Given the description of an element on the screen output the (x, y) to click on. 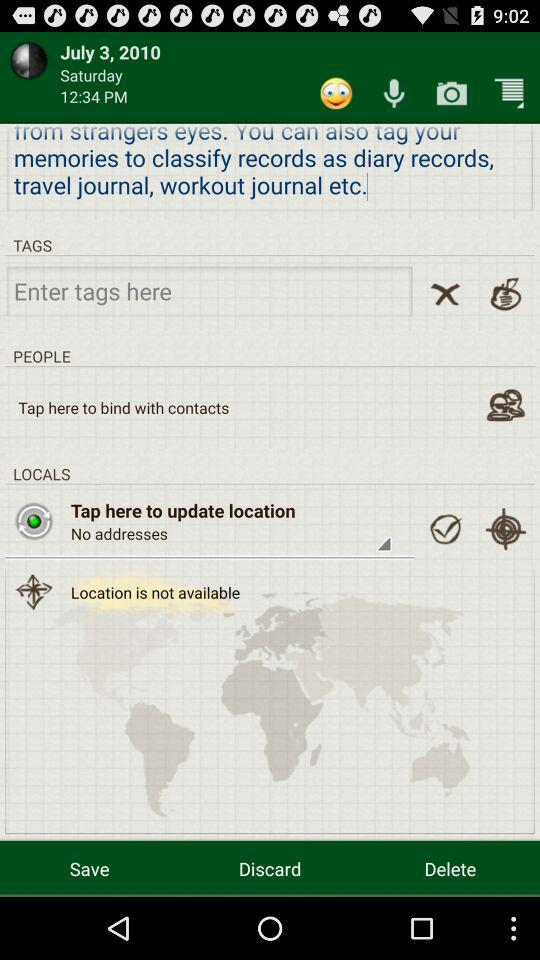
press the app next to saturday (336, 92)
